Given the description of an element on the screen output the (x, y) to click on. 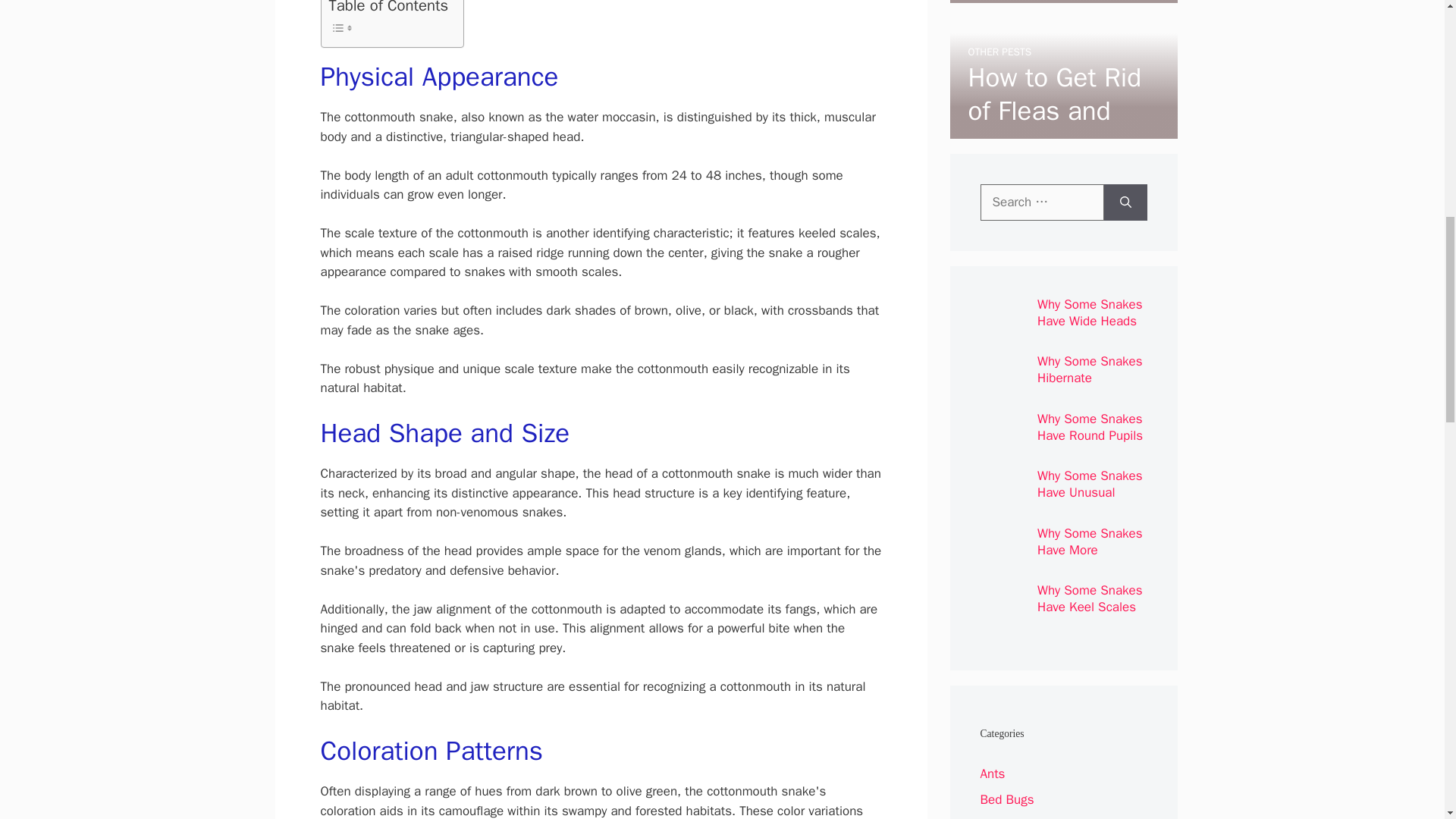
OTHER PESTS (999, 51)
Why Some Snakes Have Wide Heads (1089, 312)
How to Get Rid of Fleas and Eggs on Dog (1054, 110)
Why Some Snakes Hibernate (1089, 368)
